Given the description of an element on the screen output the (x, y) to click on. 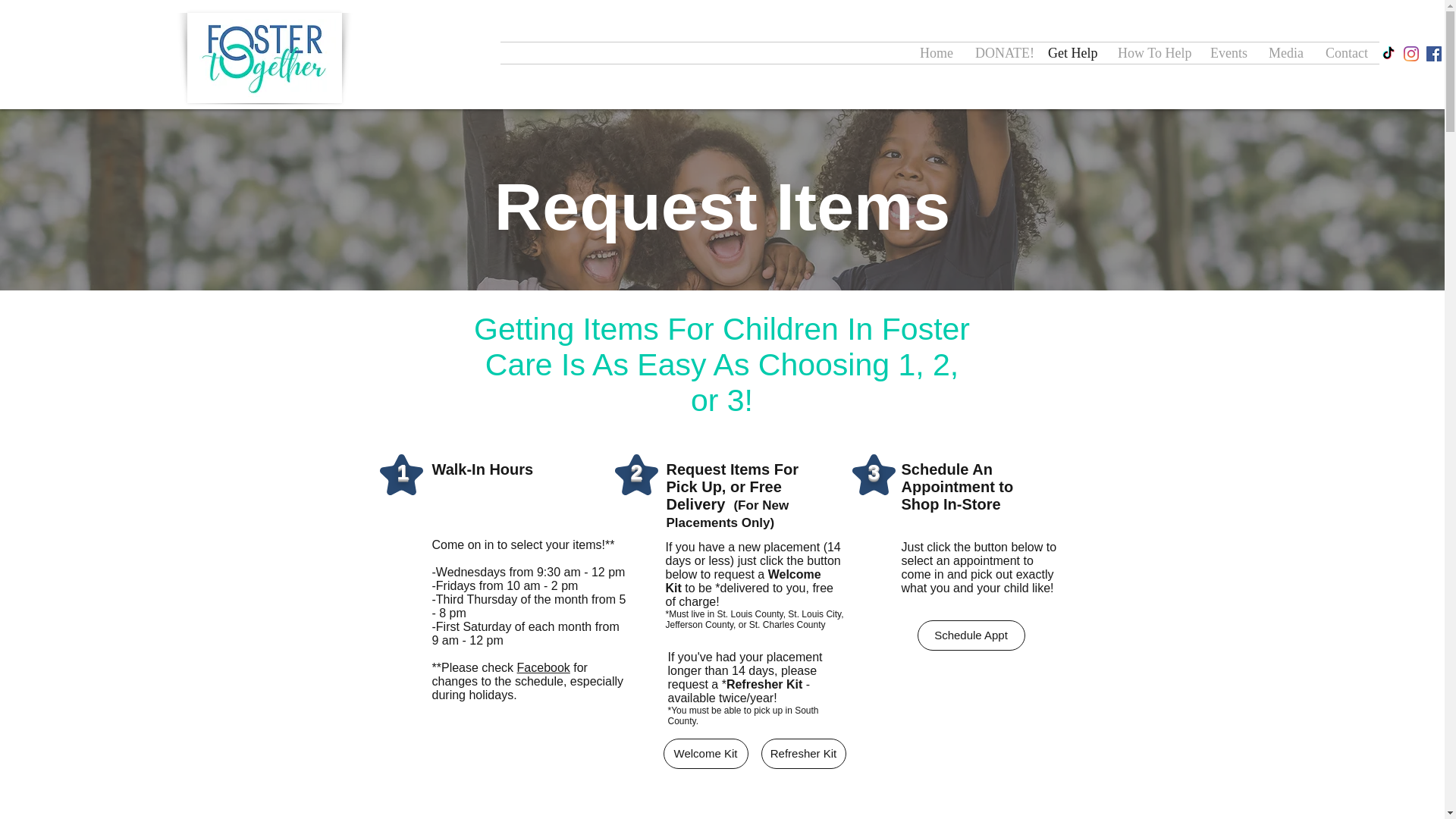
Media (1285, 52)
Events (1227, 52)
Get Help (1071, 52)
How To Help (1152, 52)
DONATE! (999, 52)
Facebook (543, 667)
Refresher Kit (803, 753)
Home (935, 52)
Schedule Appt (971, 634)
Welcome Kit (705, 753)
